Given the description of an element on the screen output the (x, y) to click on. 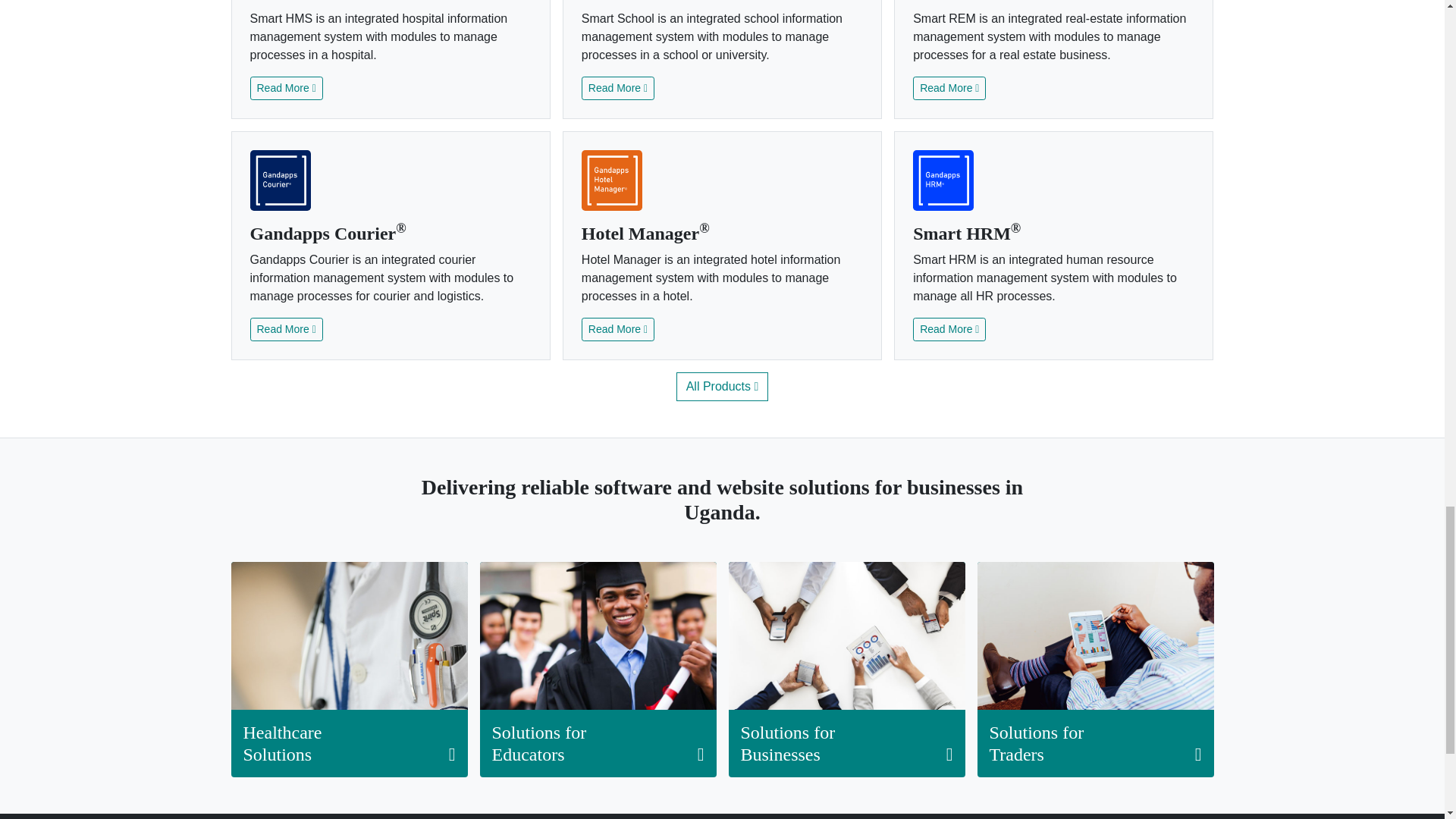
Read More (286, 87)
Read More (616, 87)
